Given the description of an element on the screen output the (x, y) to click on. 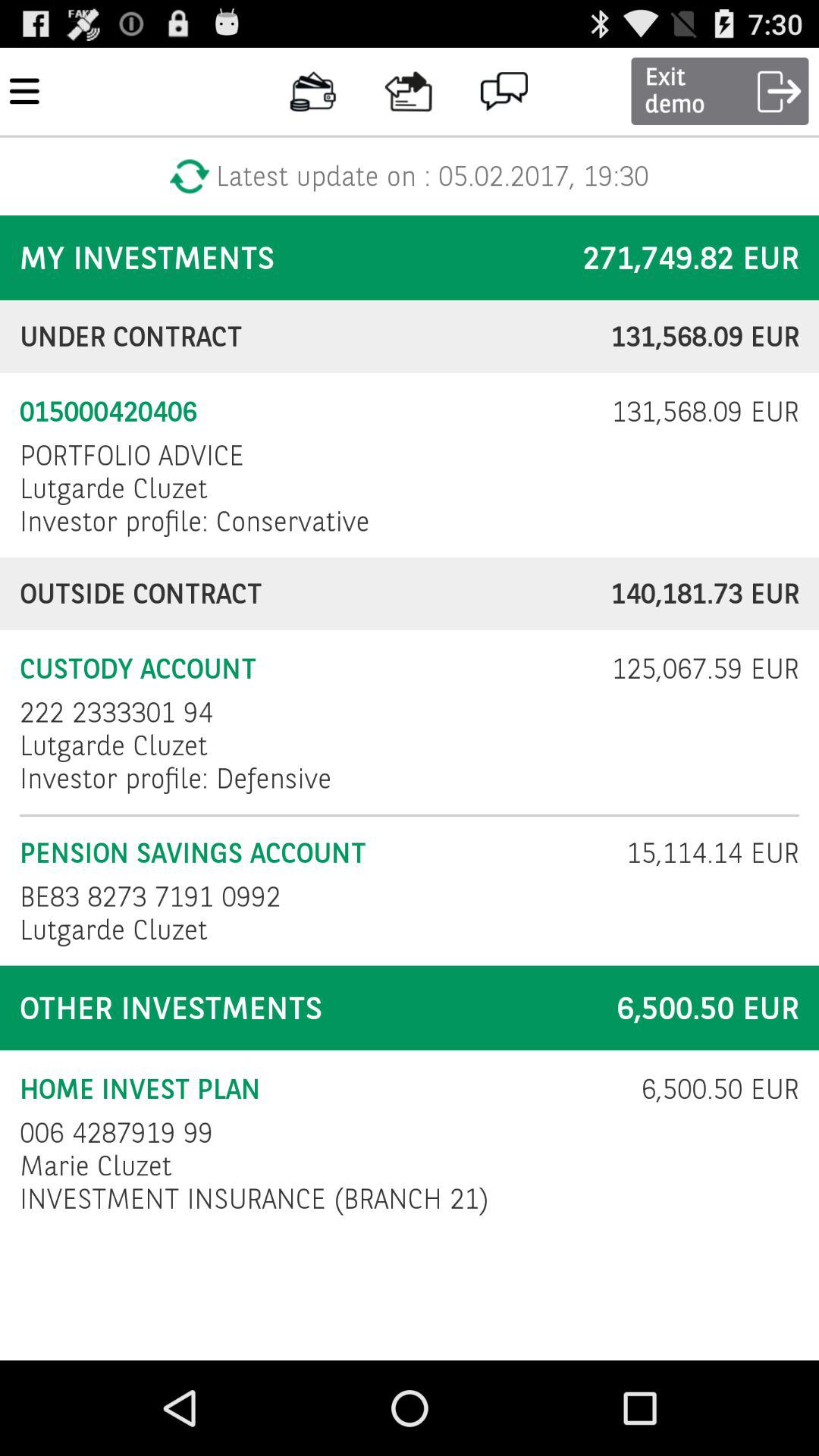
click icon to the left of 125 067 59 icon (116, 712)
